Given the description of an element on the screen output the (x, y) to click on. 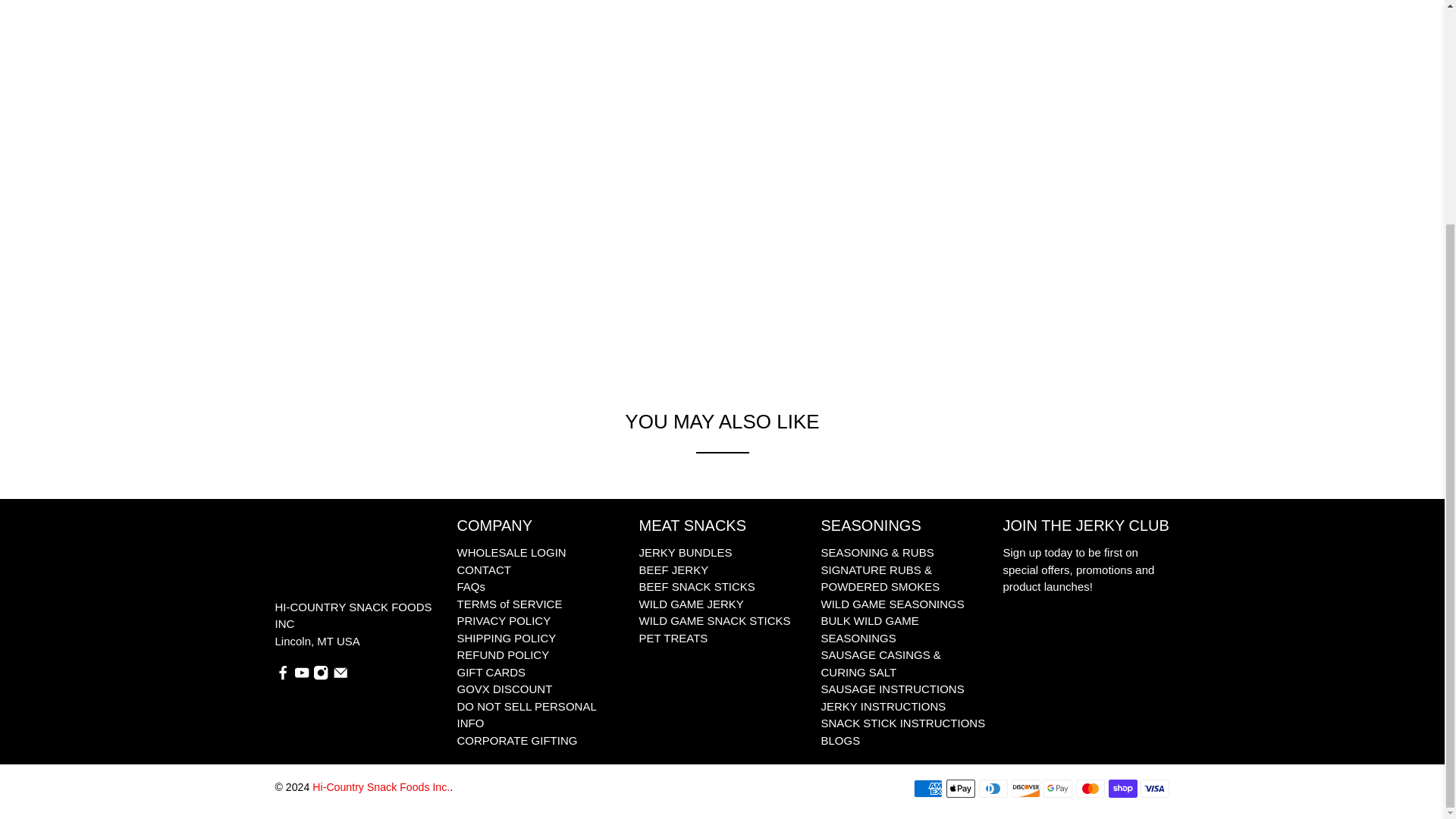
Google Pay (1057, 788)
American Express (928, 788)
Apple Pay (960, 788)
Visa (1154, 788)
Email Hi-Country Snack Foods Inc. (340, 676)
Shop Pay (1122, 788)
Discover (1026, 788)
Hi-Country Snack Foods Inc. (324, 556)
Diners Club (992, 788)
Mastercard (1090, 788)
